Given the description of an element on the screen output the (x, y) to click on. 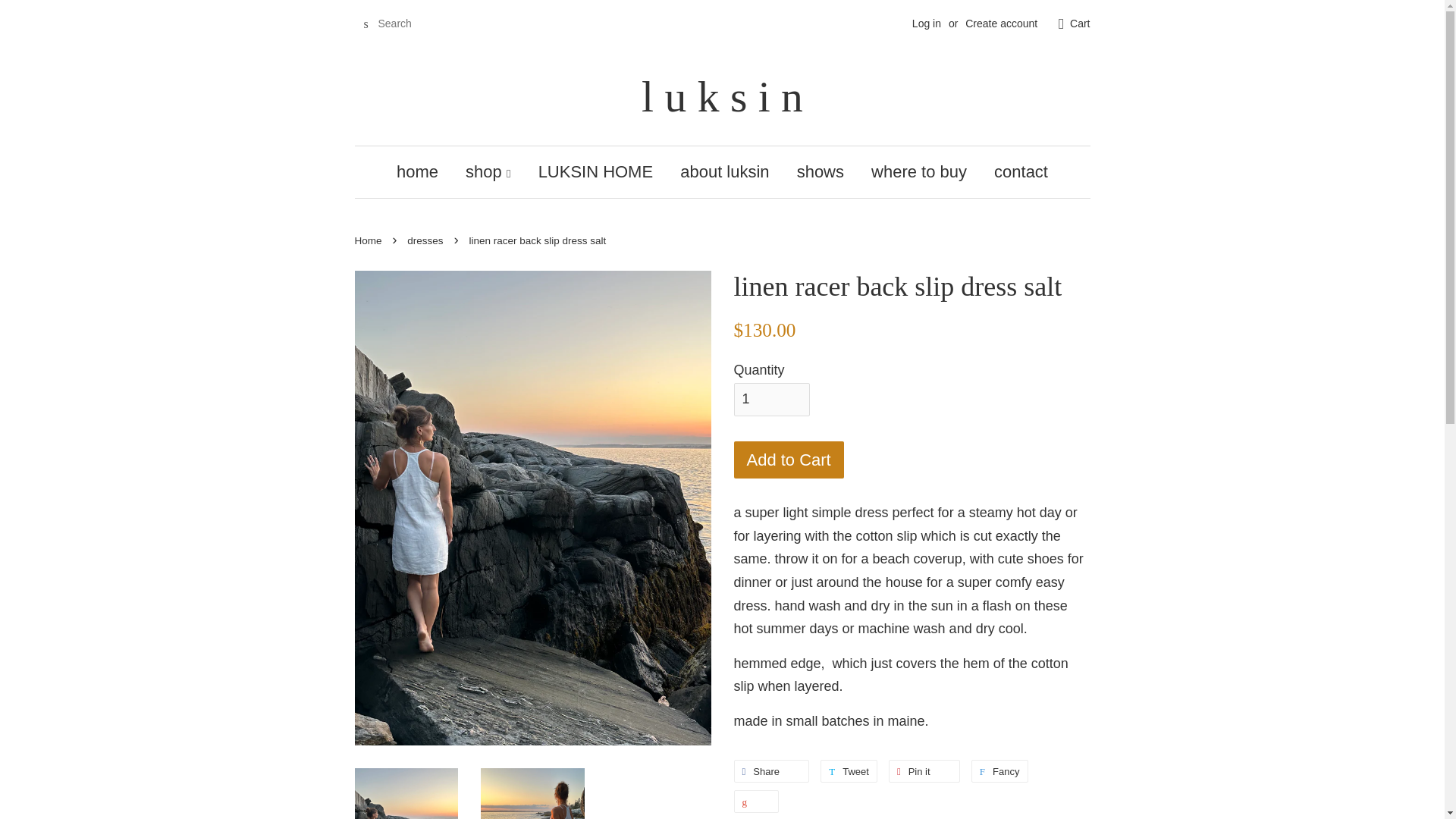
where to buy (919, 171)
1 (771, 399)
shows (821, 171)
Cart (1079, 24)
about luksin (724, 171)
shop (487, 171)
Log in (926, 23)
LUKSIN HOME (595, 171)
Create account (1000, 23)
Search (366, 24)
Back to the frontpage (370, 240)
l u k s i n (722, 96)
home (422, 171)
